Given the description of an element on the screen output the (x, y) to click on. 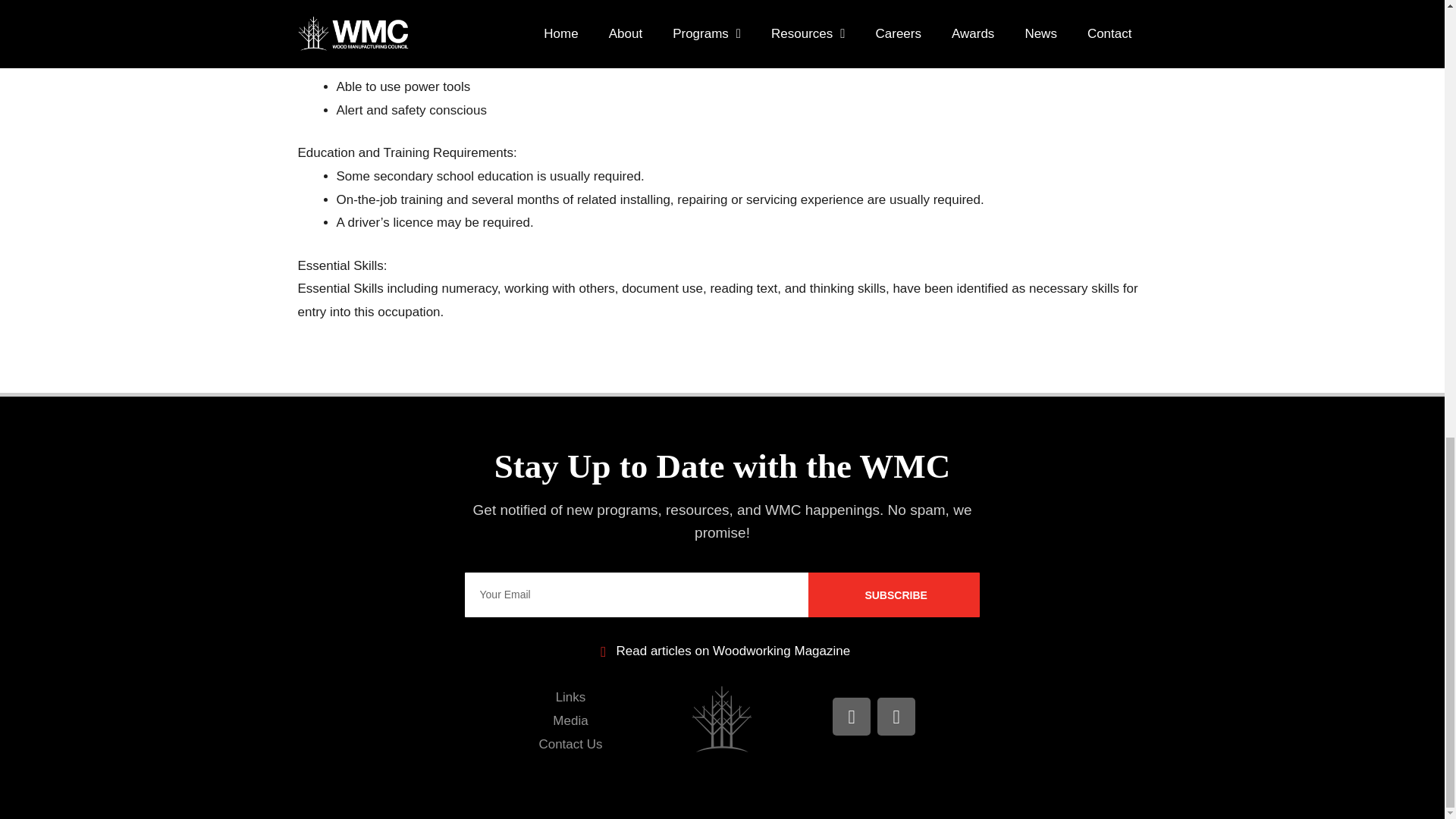
footer-logo (722, 719)
